Given the description of an element on the screen output the (x, y) to click on. 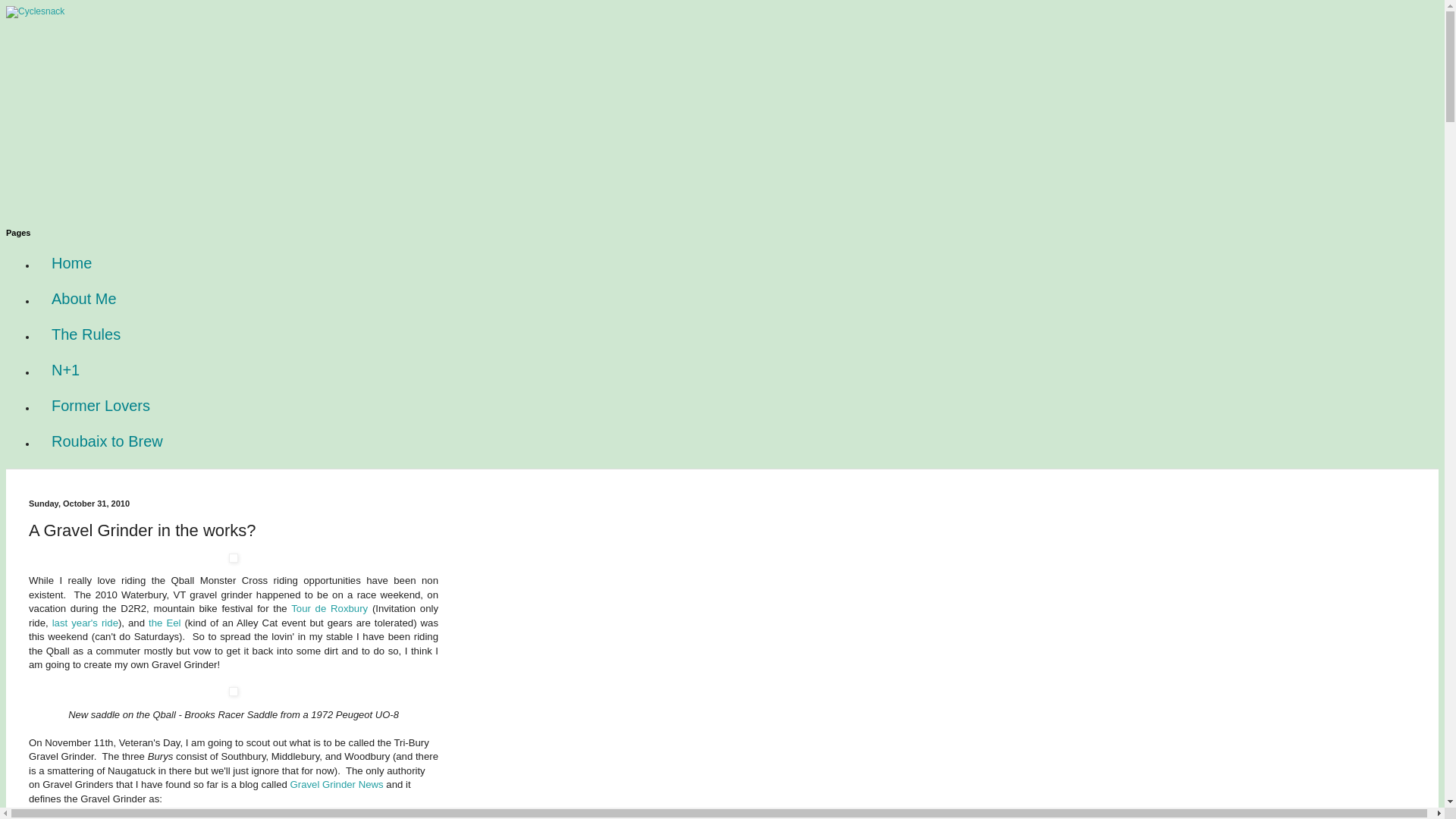
Tour de Roxbury (329, 608)
Roubaix to Brew (106, 441)
the Eel (166, 622)
The Rules (85, 334)
Home (71, 263)
About Me (84, 298)
last year's ride (84, 622)
Gravel Grinder News (336, 784)
Former Lovers (100, 406)
